Given the description of an element on the screen output the (x, y) to click on. 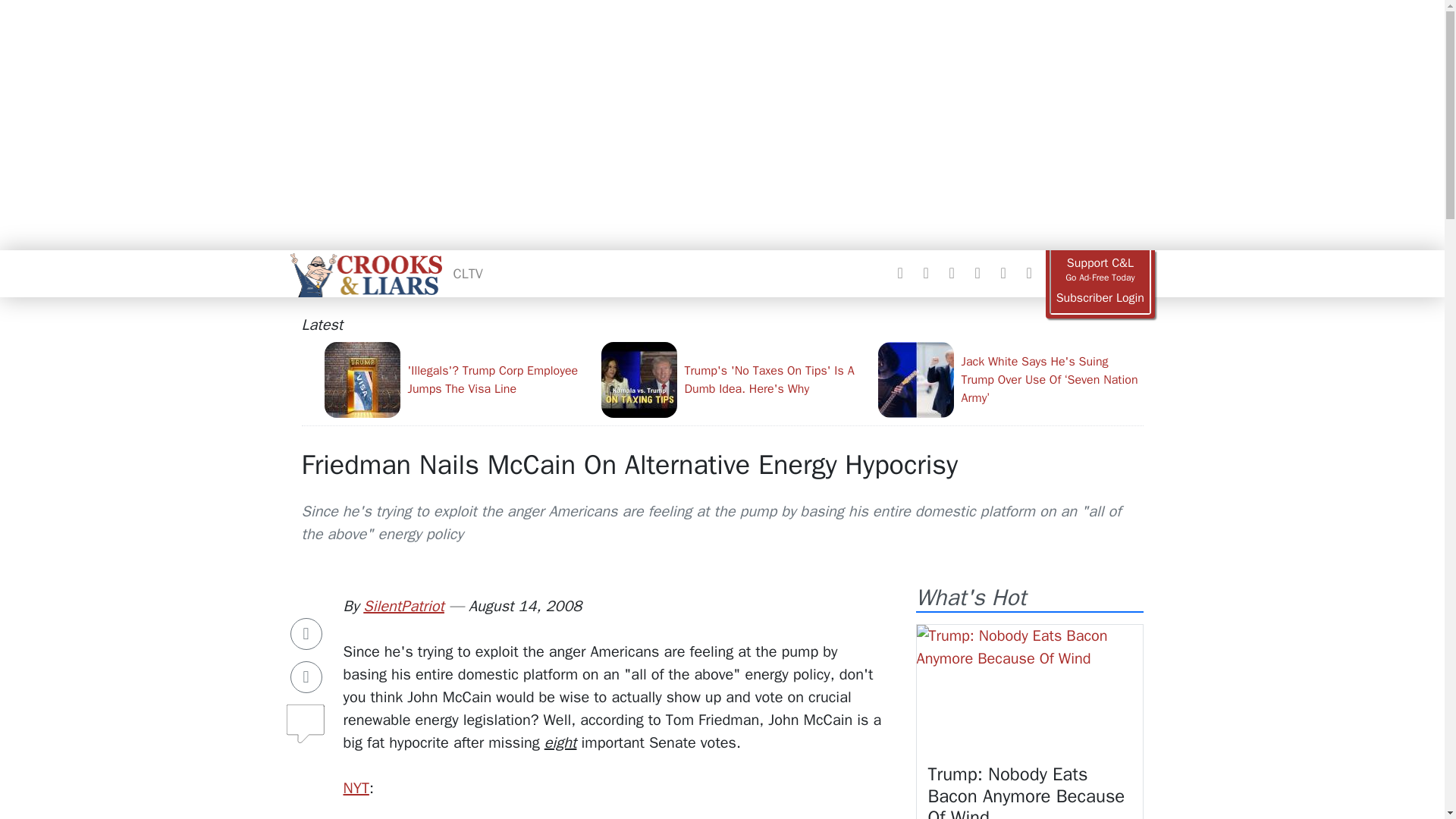
NYT (355, 787)
Trump's 'No Taxes On Tips' Is A Dumb Idea. Here's Why (732, 379)
Go ad free today! (1099, 270)
SilentPatriot (403, 606)
Trump's 'No Taxes On Tips' Is A Dumb Idea. Here's Why (732, 379)
CLTV (467, 273)
Trump: Nobody Eats Bacon Anymore Because Of Wind  (1026, 790)
'Illegals'? Trump Corp Employee Jumps The Visa Line  (456, 379)
Login to your ad free account (1099, 298)
Comments (306, 717)
